Given the description of an element on the screen output the (x, y) to click on. 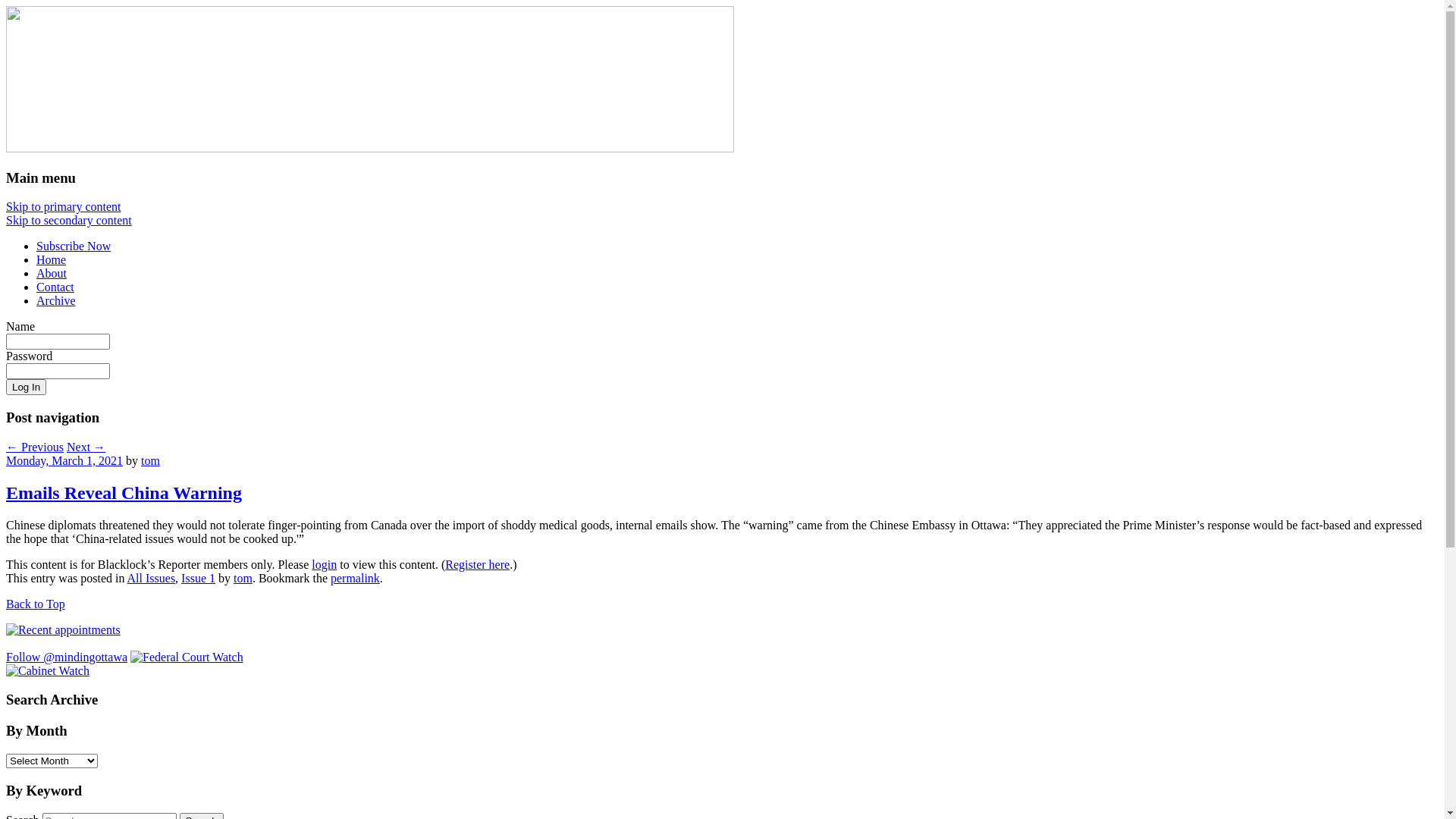
tom Element type: text (242, 577)
Register here Element type: text (477, 564)
login Element type: text (323, 564)
Issue 1 Element type: text (198, 577)
Archive Element type: text (55, 300)
Log In Element type: text (26, 387)
About Element type: text (51, 272)
Back to Top Element type: text (35, 603)
Emails Reveal China Warning Element type: text (123, 492)
tom Element type: text (150, 460)
Follow @mindingottawa Element type: text (66, 656)
Monday, March 1, 2021 Element type: text (64, 460)
permalink Element type: text (354, 577)
Subscribe Now Element type: text (73, 245)
Contact Element type: text (55, 286)
Skip to primary content Element type: text (63, 206)
All Issues Element type: text (151, 577)
Skip to secondary content Element type: text (68, 219)
Home Element type: text (50, 259)
